Given the description of an element on the screen output the (x, y) to click on. 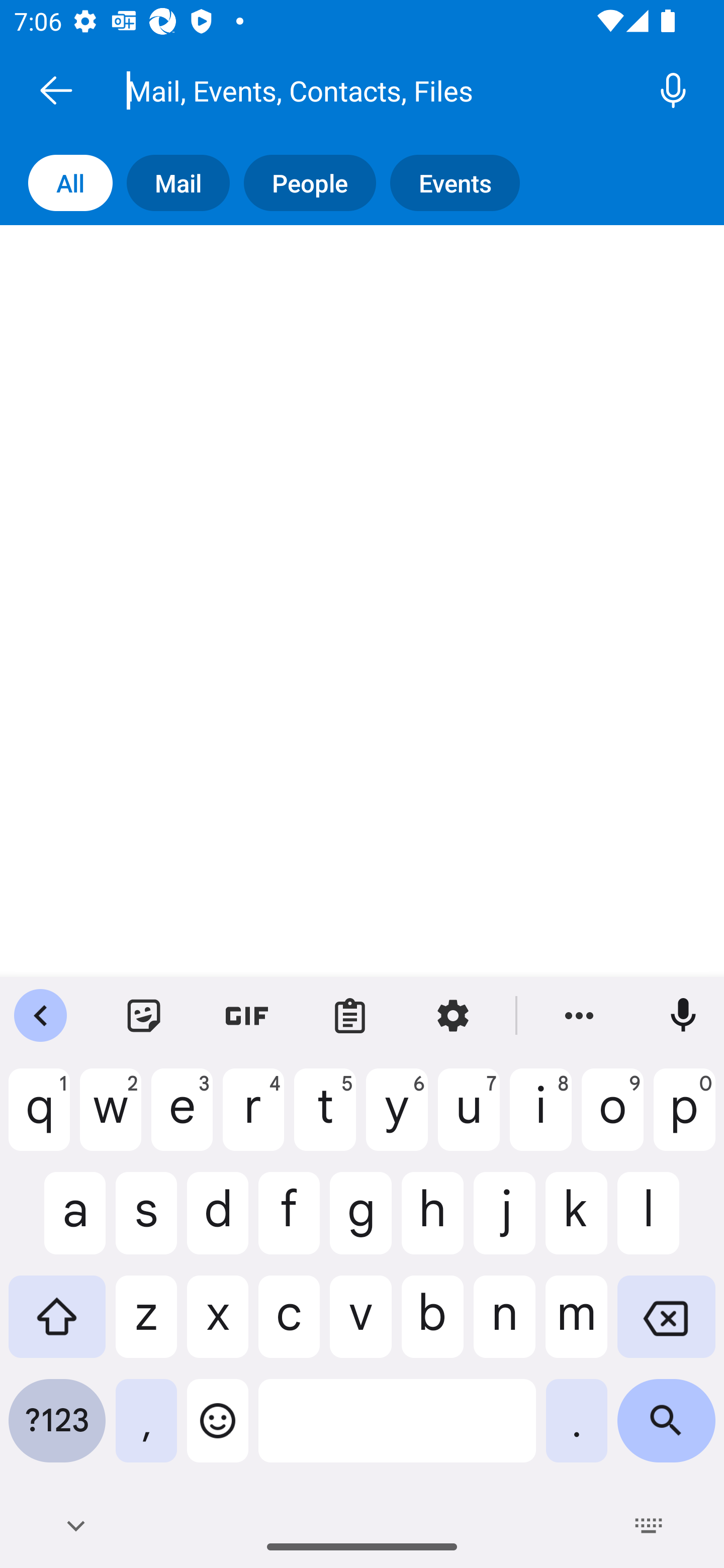
Close (55, 89)
Mail, Events, Contacts, Files (384, 89)
Voice Assistant (670, 89)
Mail (184, 183)
People (316, 183)
Events (462, 183)
